Given the description of an element on the screen output the (x, y) to click on. 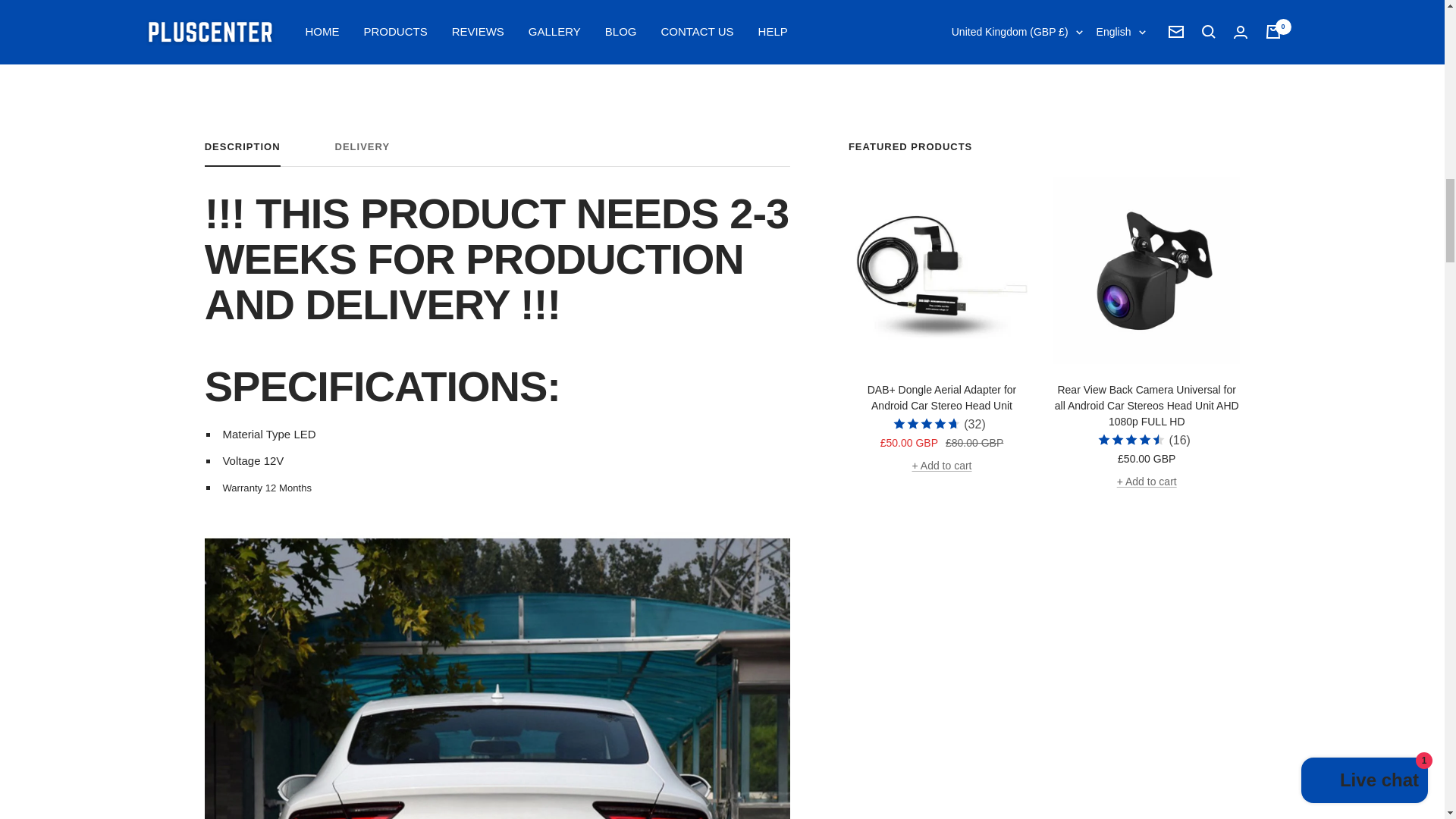
Next (497, 153)
